Given the description of an element on the screen output the (x, y) to click on. 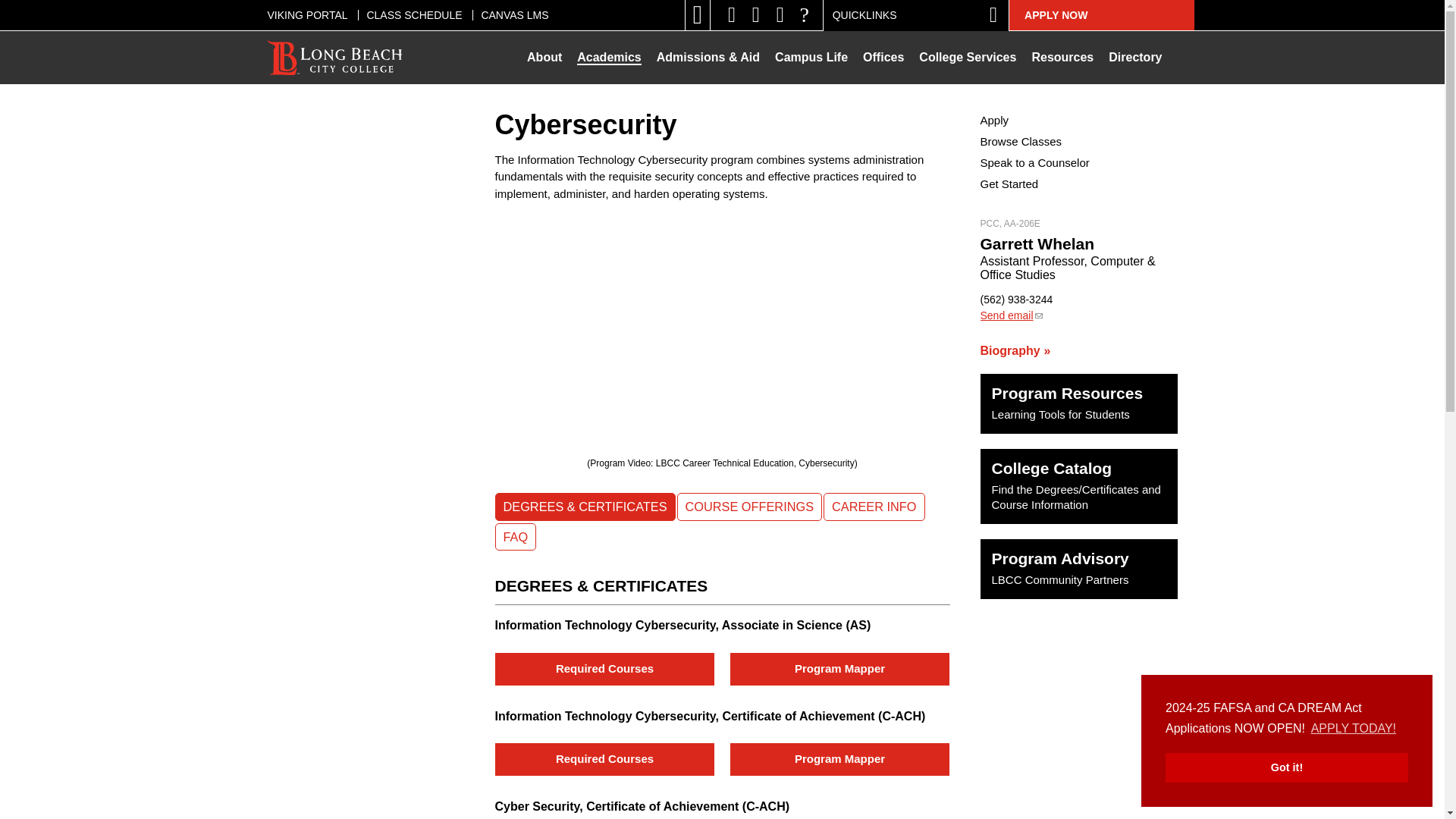
Back to home (334, 57)
Academics (609, 57)
Academics (609, 57)
Got it! (1286, 767)
APPLY TODAY! (1353, 728)
Campus Life (810, 57)
